Given the description of an element on the screen output the (x, y) to click on. 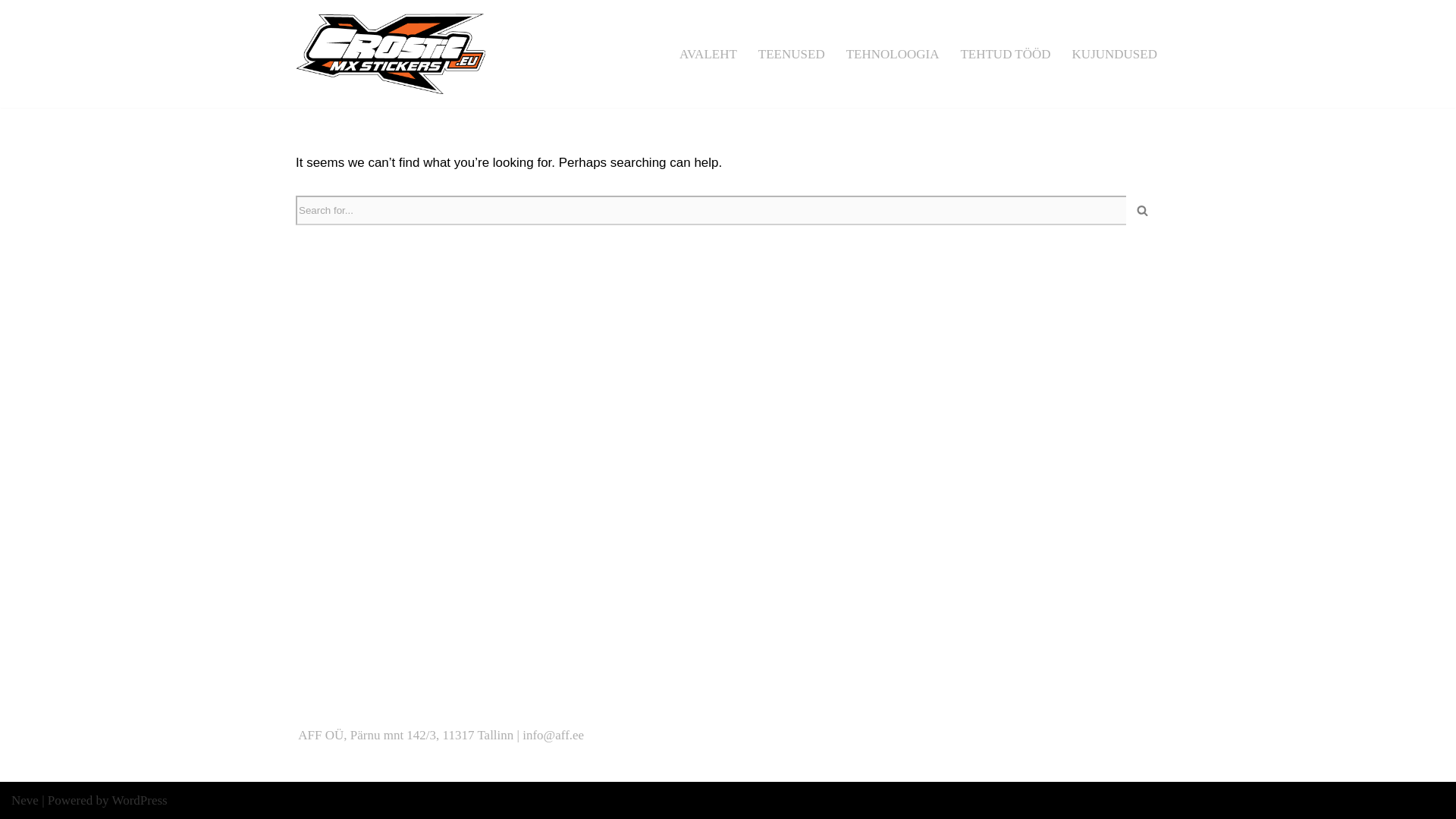
KUJUNDUSED (1114, 53)
Skip to content (11, 31)
TEHNOLOOGIA (892, 53)
TEENUSED (791, 53)
AVALEHT (707, 53)
WordPress (139, 800)
Neve (25, 800)
